Given the description of an element on the screen output the (x, y) to click on. 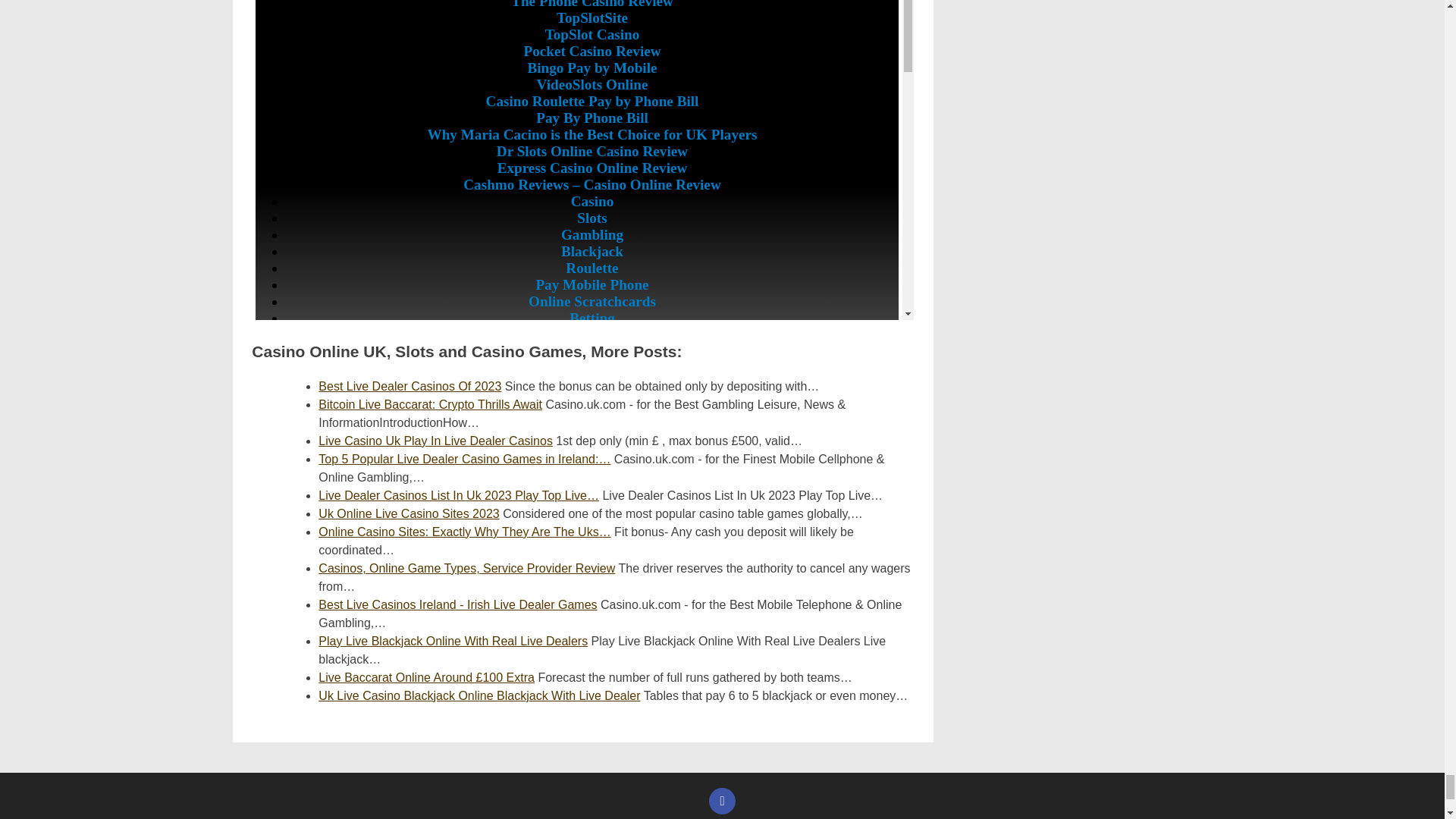
Best Live Dealer Casinos Of 2023 (409, 386)
Casinos, Online Game Types, Service Provider Review (466, 567)
Bitcoin Live Baccarat: Crypto Thrills Await (429, 404)
Live Casino Uk Play In Live Dealer Casinos (435, 440)
Uk Online Live Casino Sites 2023 (408, 513)
